Given the description of an element on the screen output the (x, y) to click on. 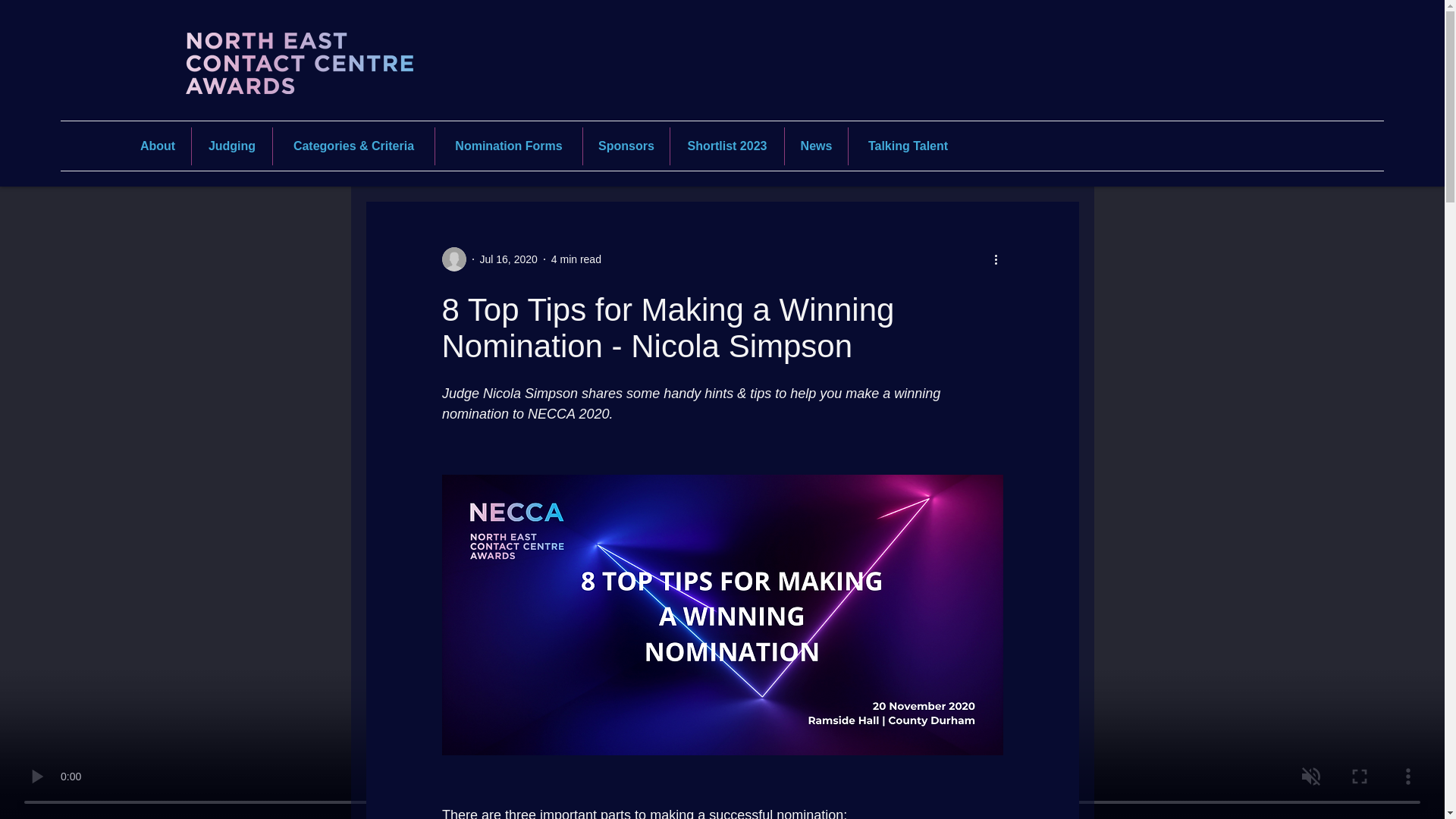
Talking Talent (908, 146)
Jul 16, 2020 (508, 259)
Nomination Forms (508, 146)
4 min read (576, 259)
Sponsors (626, 146)
About (156, 146)
News (815, 146)
Judging (232, 146)
Shortlist 2023 (726, 146)
